Given the description of an element on the screen output the (x, y) to click on. 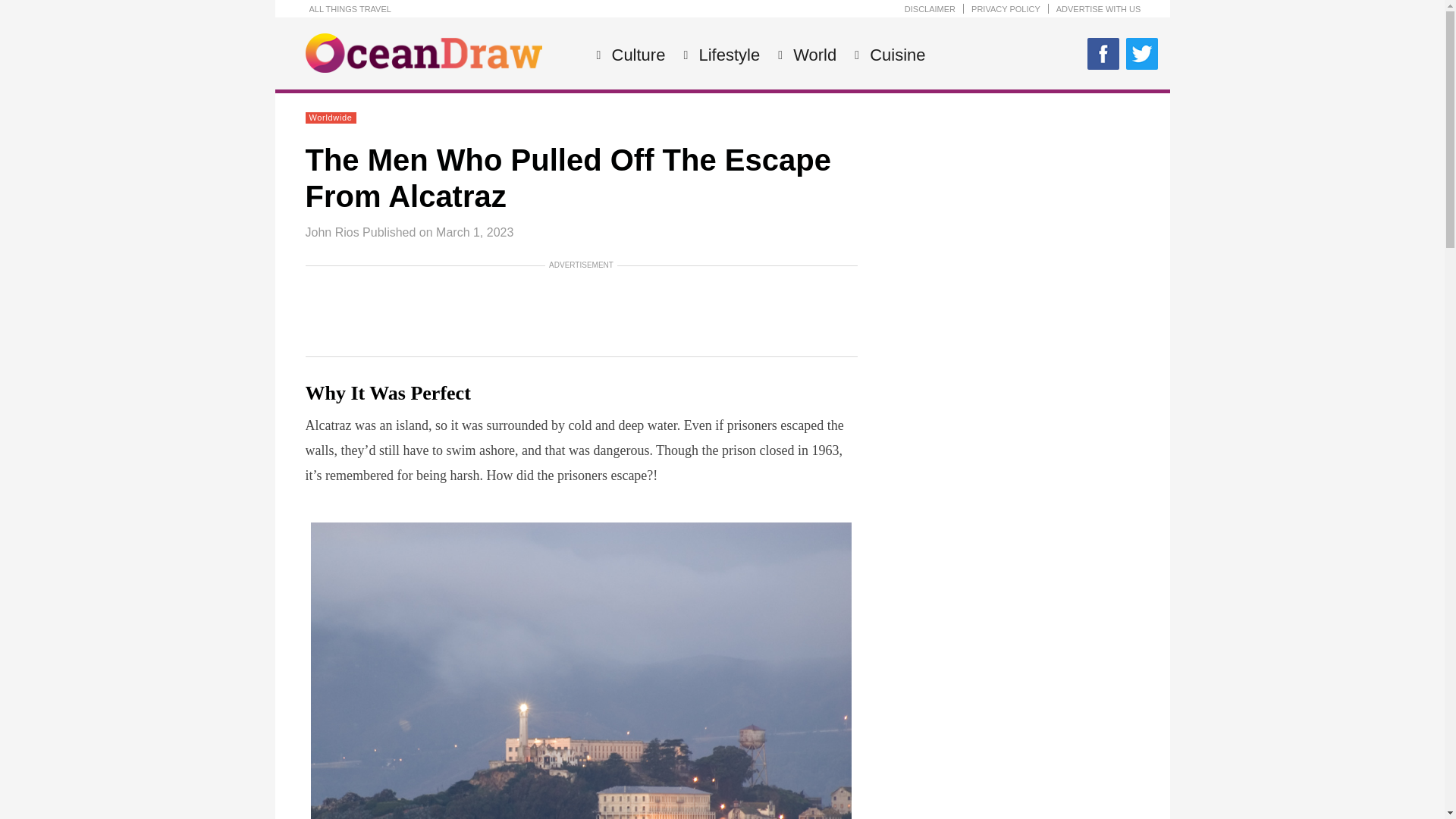
John Rios (331, 232)
Cuisine (895, 55)
ALL THINGS TRAVEL (349, 8)
ADVERTISE WITH US (1099, 8)
Worldwide (330, 117)
PRIVACY POLICY (1006, 8)
DISCLAIMER (929, 8)
Culture (636, 55)
Lifestyle (727, 55)
World (812, 55)
